Given the description of an element on the screen output the (x, y) to click on. 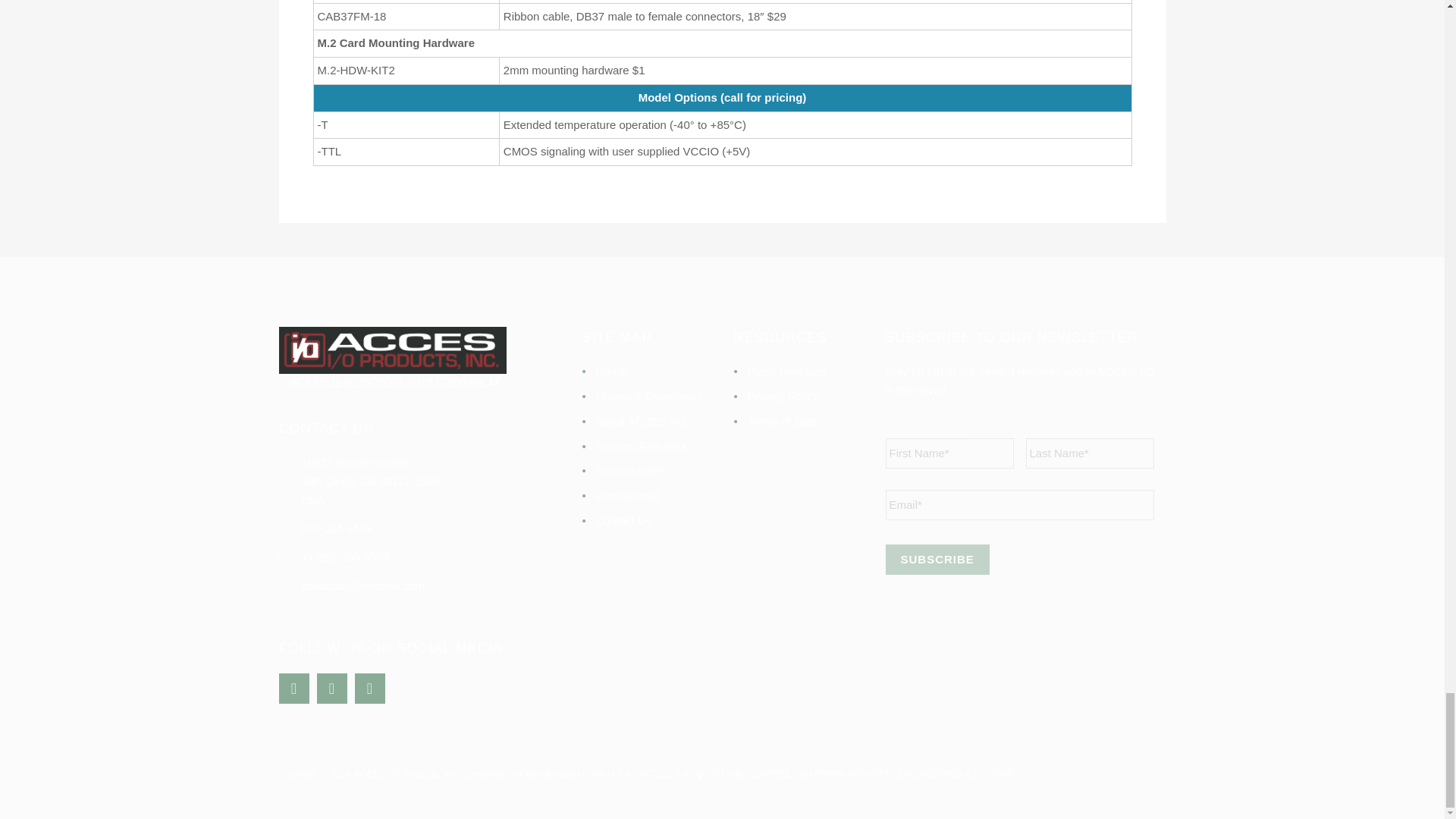
Connect us (332, 688)
Connect us (293, 688)
Subscribe (937, 559)
Connect us (370, 688)
Email us (363, 585)
